Given the description of an element on the screen output the (x, y) to click on. 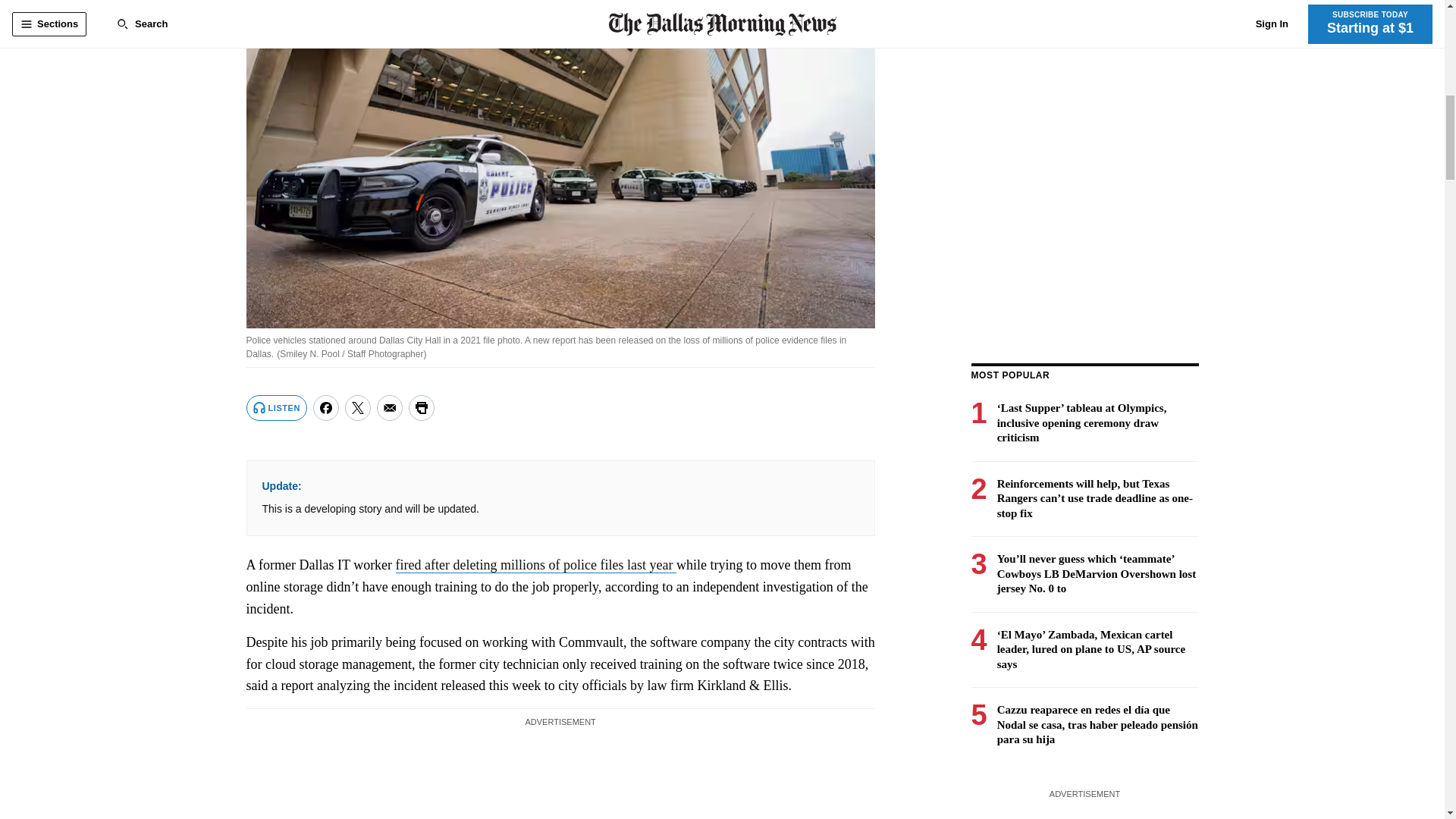
Share on Facebook (326, 407)
Print (421, 407)
Share on Twitter (358, 407)
Share via Email (390, 407)
